Given the description of an element on the screen output the (x, y) to click on. 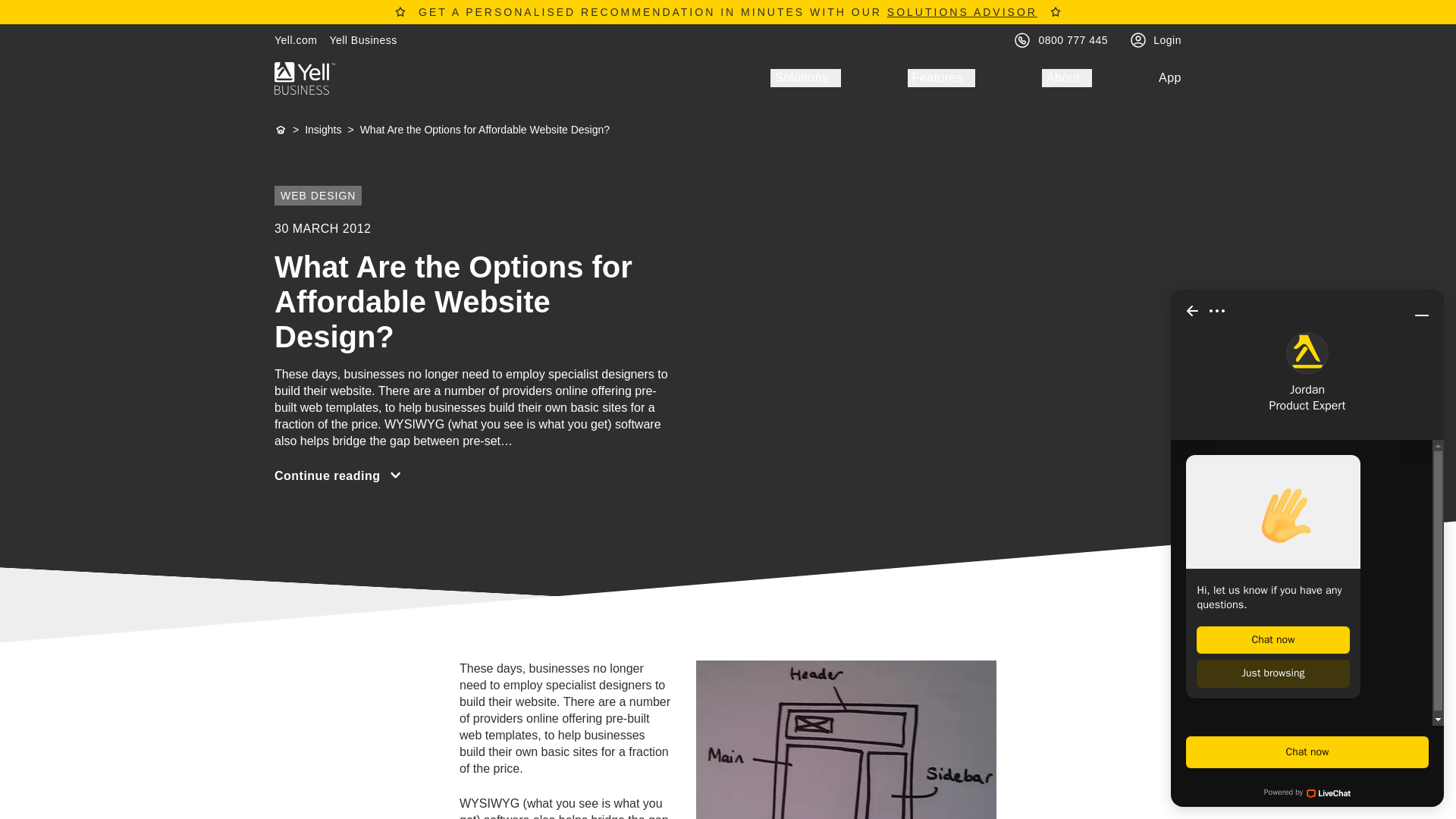
Login (1166, 39)
About (1067, 77)
Yell Business (362, 39)
Yell.com (296, 39)
Features (941, 77)
SOLUTIONS ADVISOR (961, 11)
Solutions (805, 77)
0800 777 445 (1073, 39)
